Given the description of an element on the screen output the (x, y) to click on. 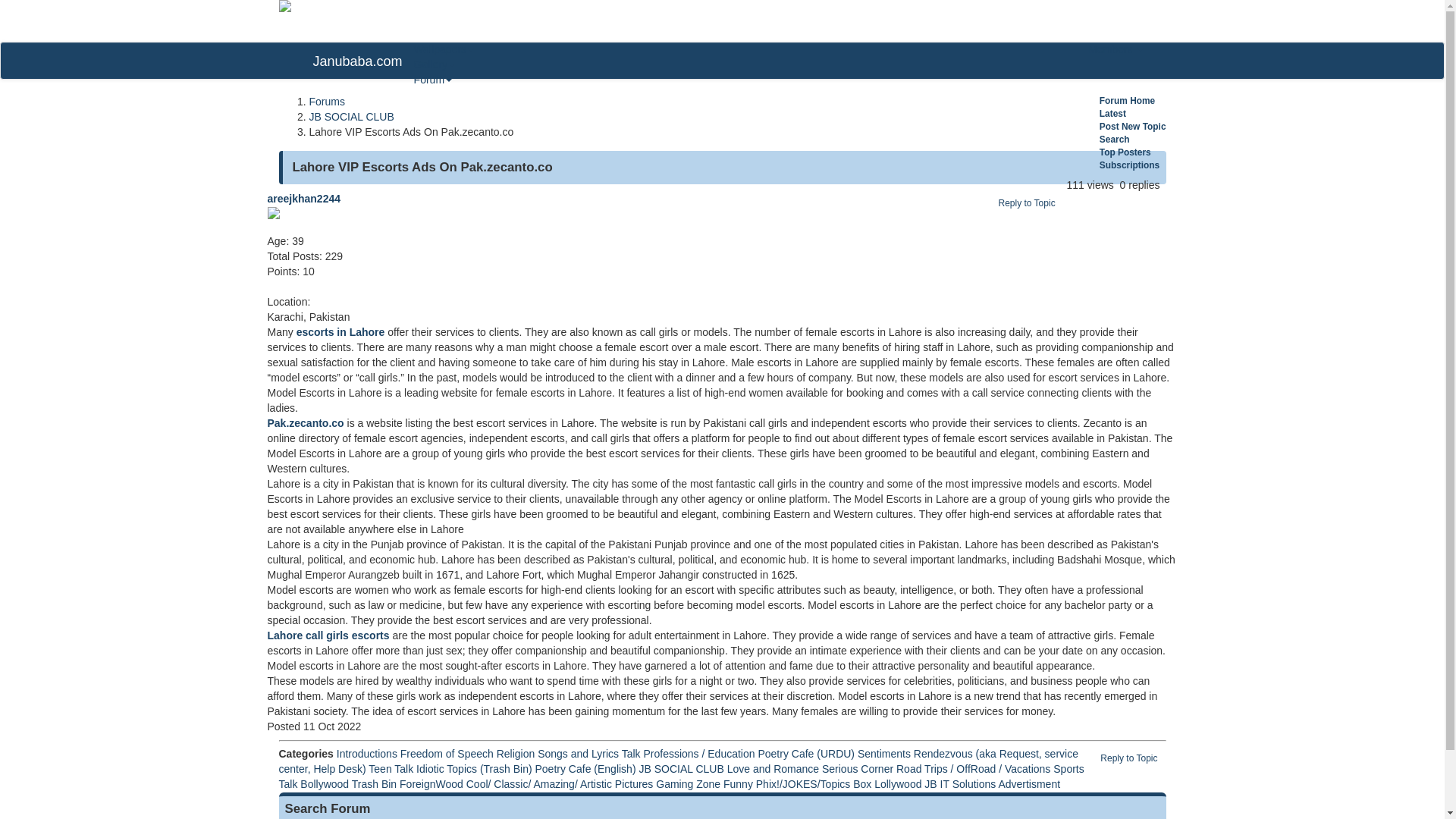
Wallpapers (443, 49)
Forum (432, 79)
Janubaba.com (357, 61)
Gallery (433, 64)
